Given the description of an element on the screen output the (x, y) to click on. 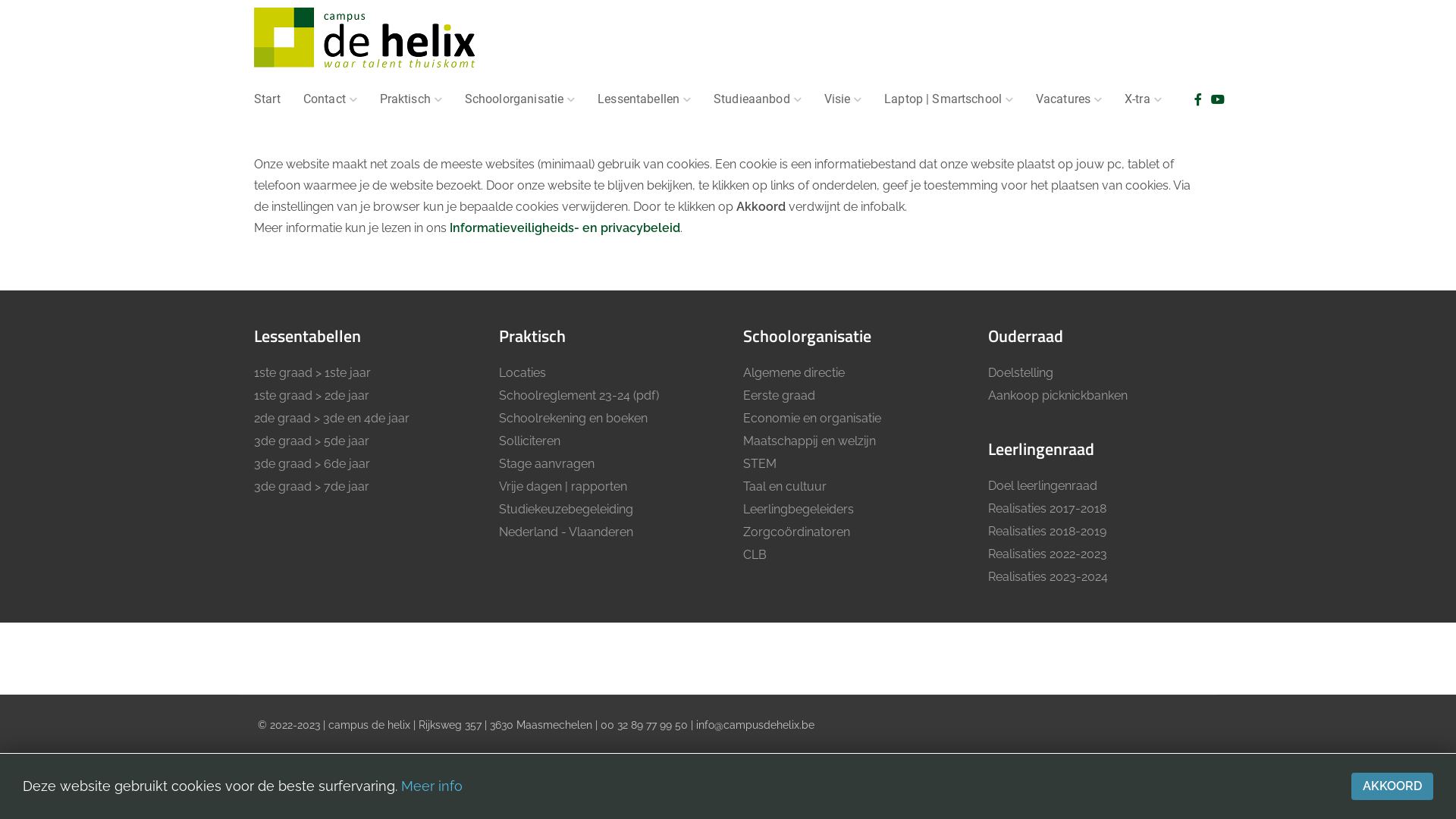
STEM Element type: text (850, 463)
Schoolrekening en boeken Element type: text (605, 418)
Eerste graad Element type: text (850, 395)
Maatschappij en welzijn Element type: text (850, 440)
Realisaties 2023-2024 Element type: text (1094, 576)
2de graad > 3de en 4de jaar Element type: text (361, 418)
Contact Element type: text (330, 98)
Start Element type: text (267, 98)
Algemene directie Element type: text (850, 372)
Informatieveiligheids- en privacybeleid Element type: text (564, 227)
Vacatures Element type: text (1068, 98)
Doelstelling Element type: text (1094, 372)
Realisaties 2018-2019 Element type: text (1094, 531)
campus de helix Element type: hover (365, 38)
Economie en organisatie Element type: text (850, 418)
Doel leerlingenraad Element type: text (1094, 485)
Taal en cultuur Element type: text (850, 486)
Leerlingbegeleiders Element type: text (850, 509)
Realisaties 2017-2018 Element type: text (1094, 508)
Facebook Element type: text (1198, 99)
Aankoop picknickbanken Element type: text (1094, 395)
3de graad > 5de jaar Element type: text (361, 440)
CLB Element type: text (850, 554)
Solliciteren Element type: text (605, 440)
Praktisch Element type: text (410, 98)
Schoolreglement 23-24 (pdf) Element type: text (605, 395)
X-tra Element type: text (1142, 98)
1ste graad > 1ste jaar Element type: text (361, 372)
Studiekeuzebegeleiding Element type: text (605, 509)
Lessentabellen Element type: text (643, 98)
Meer info Element type: text (431, 785)
1ste graad > 2de jaar Element type: text (361, 395)
3de graad > 7de jaar Element type: text (361, 486)
AKKOORD Element type: text (1392, 786)
3de graad > 6de jaar Element type: text (361, 463)
Stage aanvragen Element type: text (605, 463)
Nederland - Vlaanderen Element type: text (605, 531)
Visie Element type: text (843, 98)
Vrije dagen | rapporten Element type: text (605, 486)
Realisaties 2022-2023 Element type: text (1094, 553)
Youtube Element type: text (1217, 99)
Locaties Element type: text (605, 372)
Schoolorganisatie Element type: text (519, 98)
